Given the description of an element on the screen output the (x, y) to click on. 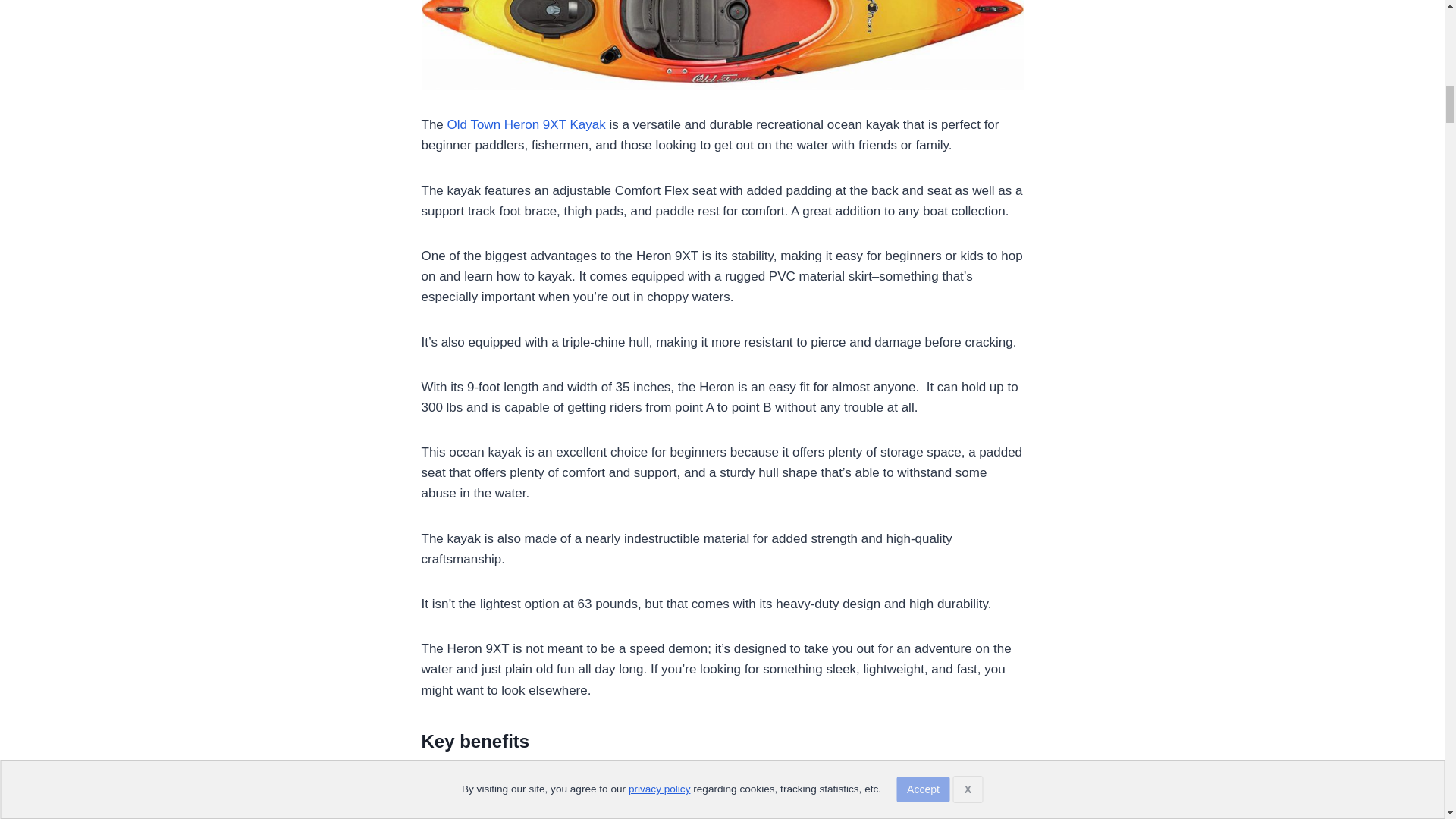
Old Town Heron 9XT Kayak (525, 124)
